Given the description of an element on the screen output the (x, y) to click on. 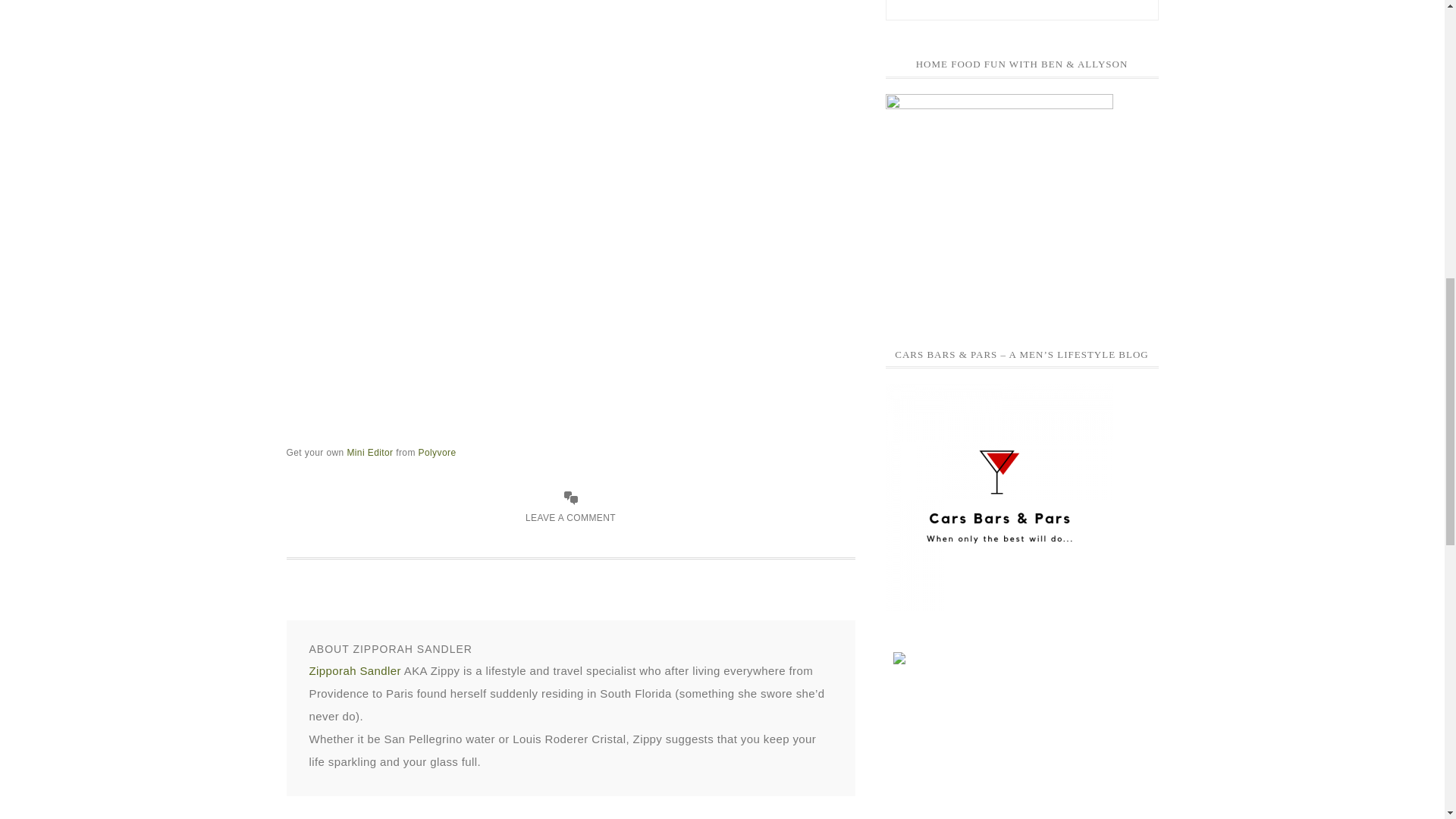
Zipporah Sandler (354, 670)
LEAVE A COMMENT (570, 517)
Polyvore (438, 452)
Mini Editor (369, 452)
